Given the description of an element on the screen output the (x, y) to click on. 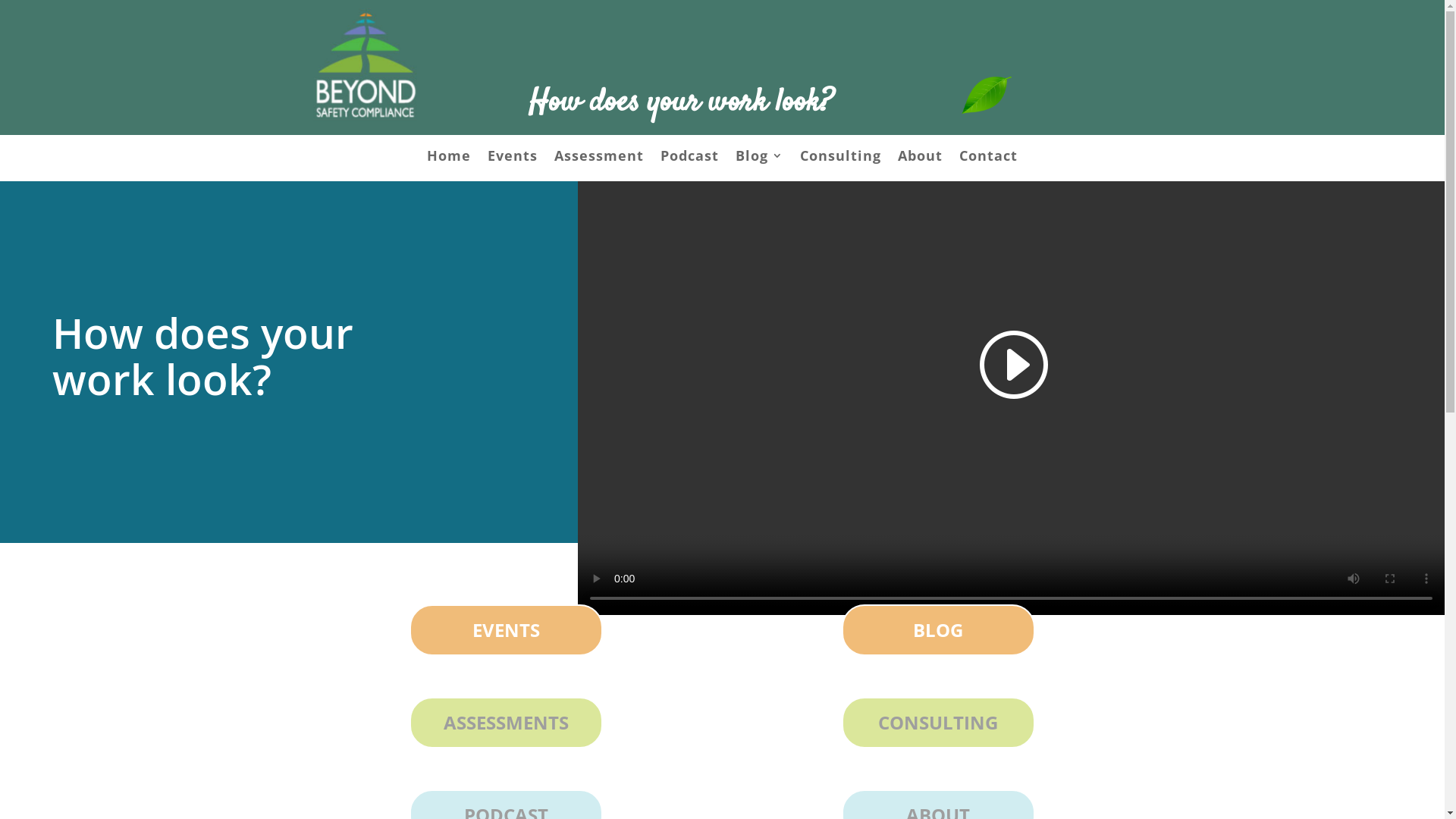
Events Element type: text (512, 158)
Home Element type: text (448, 158)
Contact Element type: text (988, 158)
leaf Element type: hover (986, 94)
Podcast Element type: text (689, 158)
Consulting Element type: text (840, 158)
logo2 Element type: hover (364, 64)
About Element type: text (919, 158)
Assessment Element type: text (598, 158)
Blog Element type: text (759, 158)
